Given the description of an element on the screen output the (x, y) to click on. 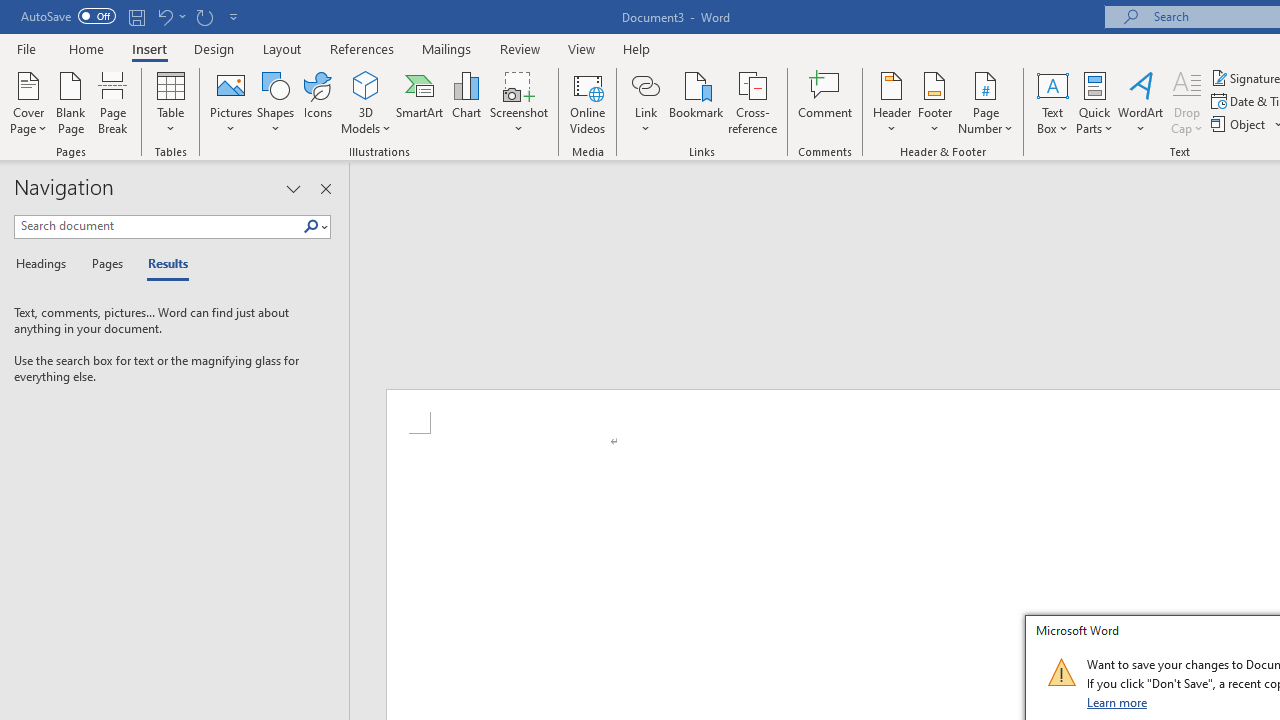
Chart... (466, 102)
Learn more (1118, 702)
Link (645, 102)
Drop Cap (1187, 102)
Link (645, 84)
Quick Parts (1094, 102)
Undo New Page (170, 15)
Comment (825, 102)
